Given the description of an element on the screen output the (x, y) to click on. 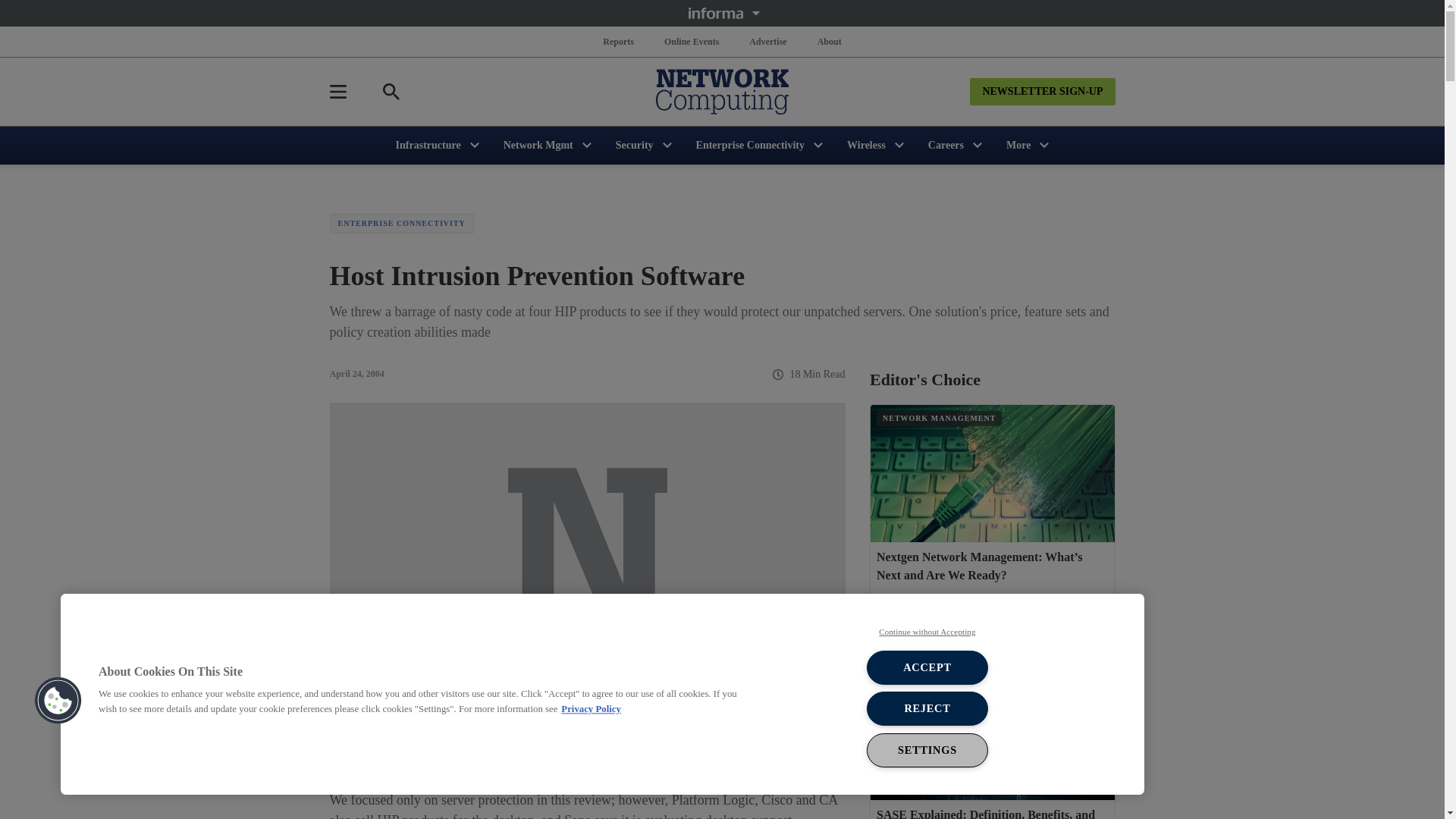
Reports (618, 41)
Advertise (767, 41)
NEWSLETTER SIGN-UP (1042, 90)
Online Events (691, 41)
Network Computing Logo (722, 91)
Cookies Button (57, 700)
About (828, 41)
